Given the description of an element on the screen output the (x, y) to click on. 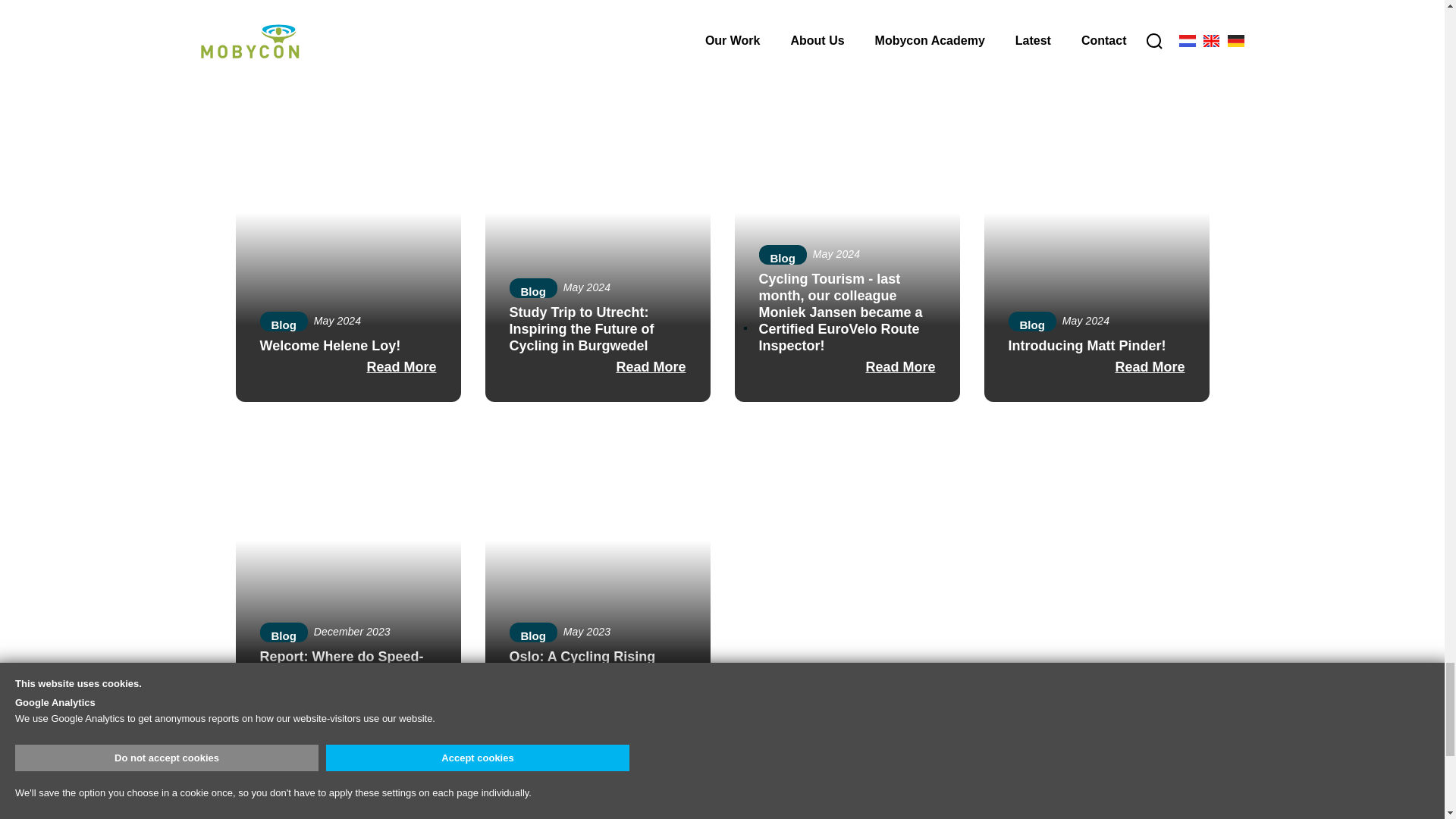
Read More (597, 38)
Read More (347, 38)
Read More (347, 366)
Read More (846, 38)
Read More (1097, 38)
